Given the description of an element on the screen output the (x, y) to click on. 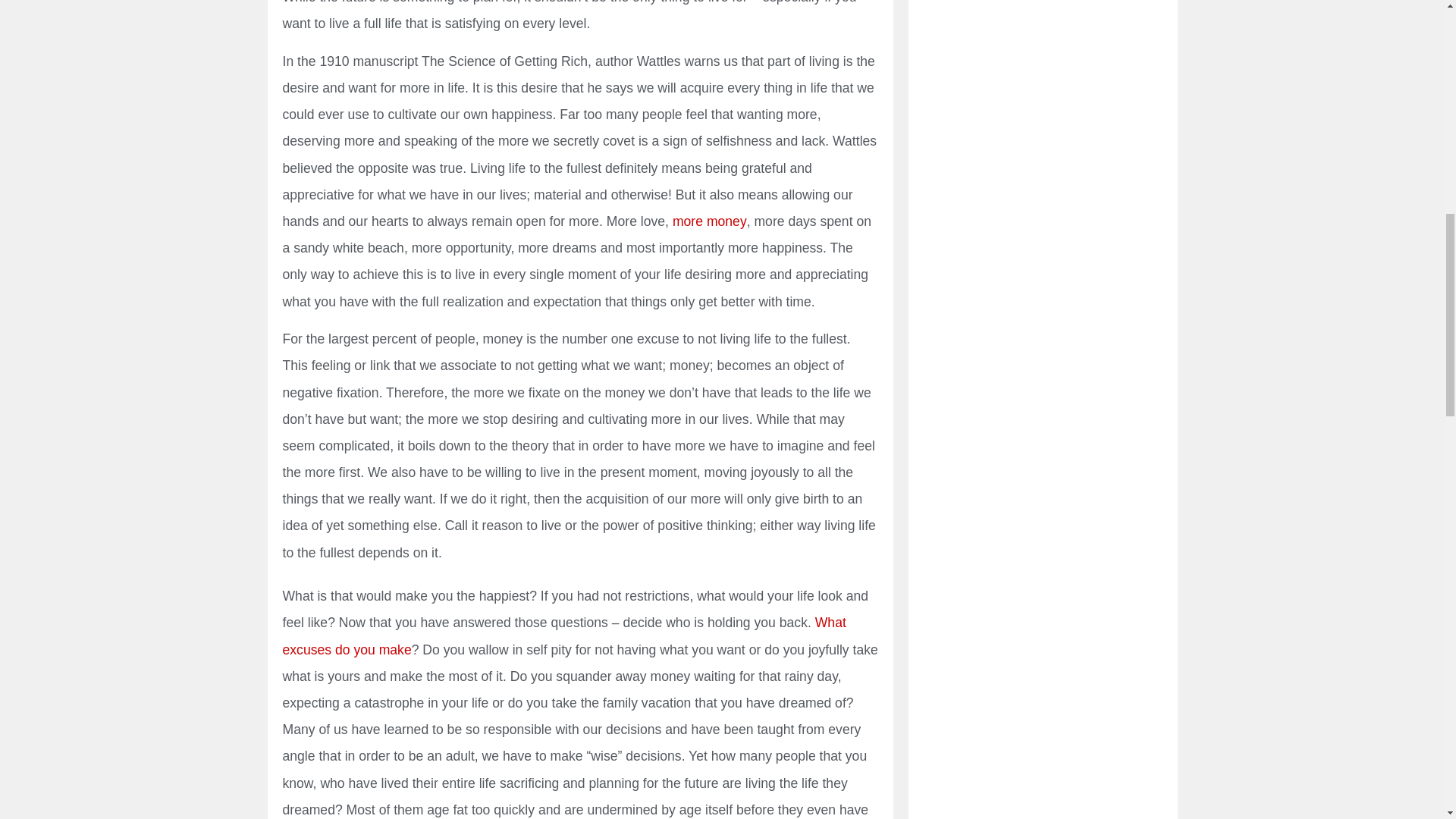
Controlling your Spending (709, 221)
What Excuses are Holding You Back (563, 635)
